Given the description of an element on the screen output the (x, y) to click on. 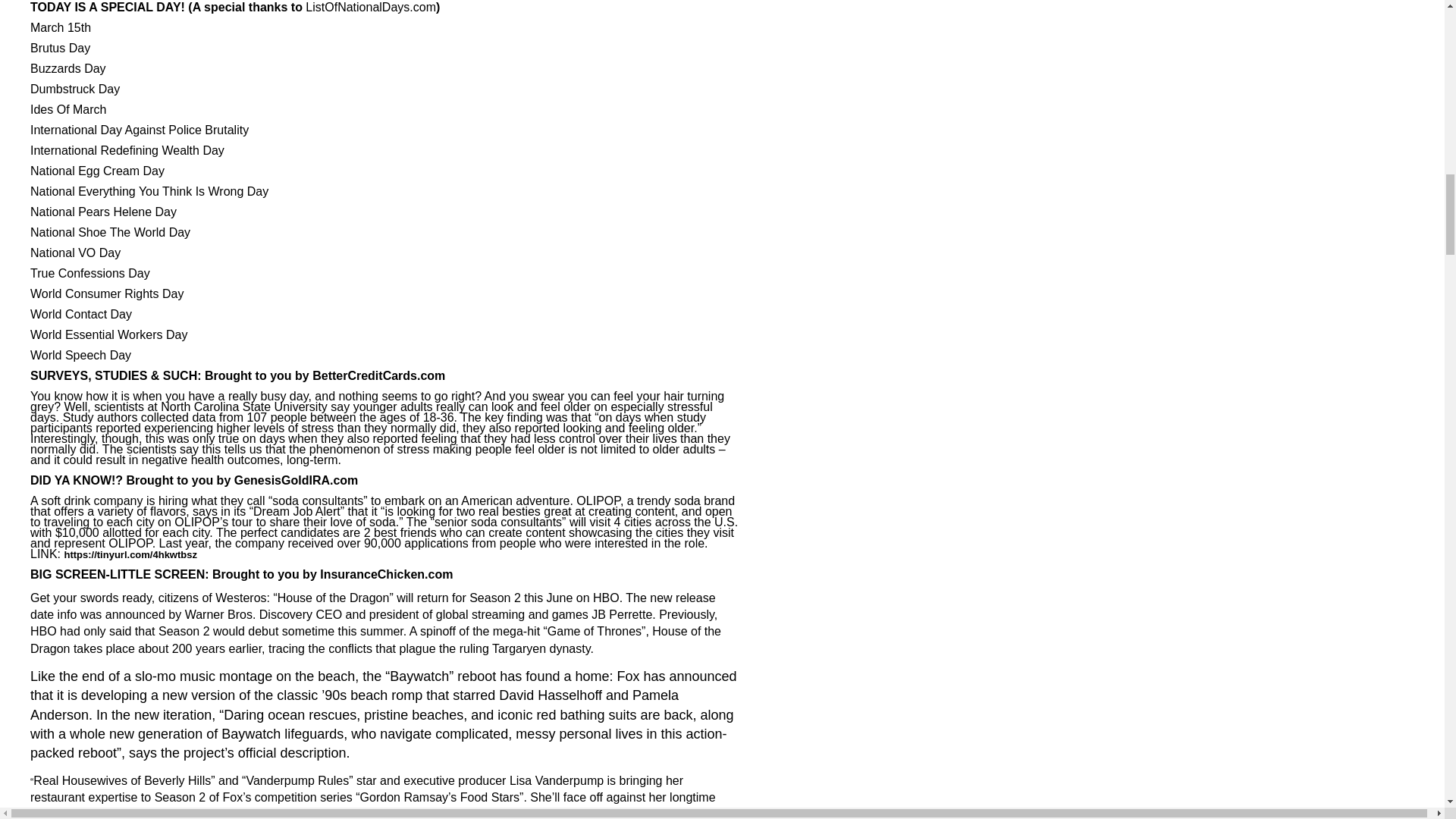
InsuranceChicken.com (386, 574)
GenesisGoldIRA.com (296, 480)
ListOfNationalDays.com (370, 6)
BetterCreditCards.com (379, 376)
